Given the description of an element on the screen output the (x, y) to click on. 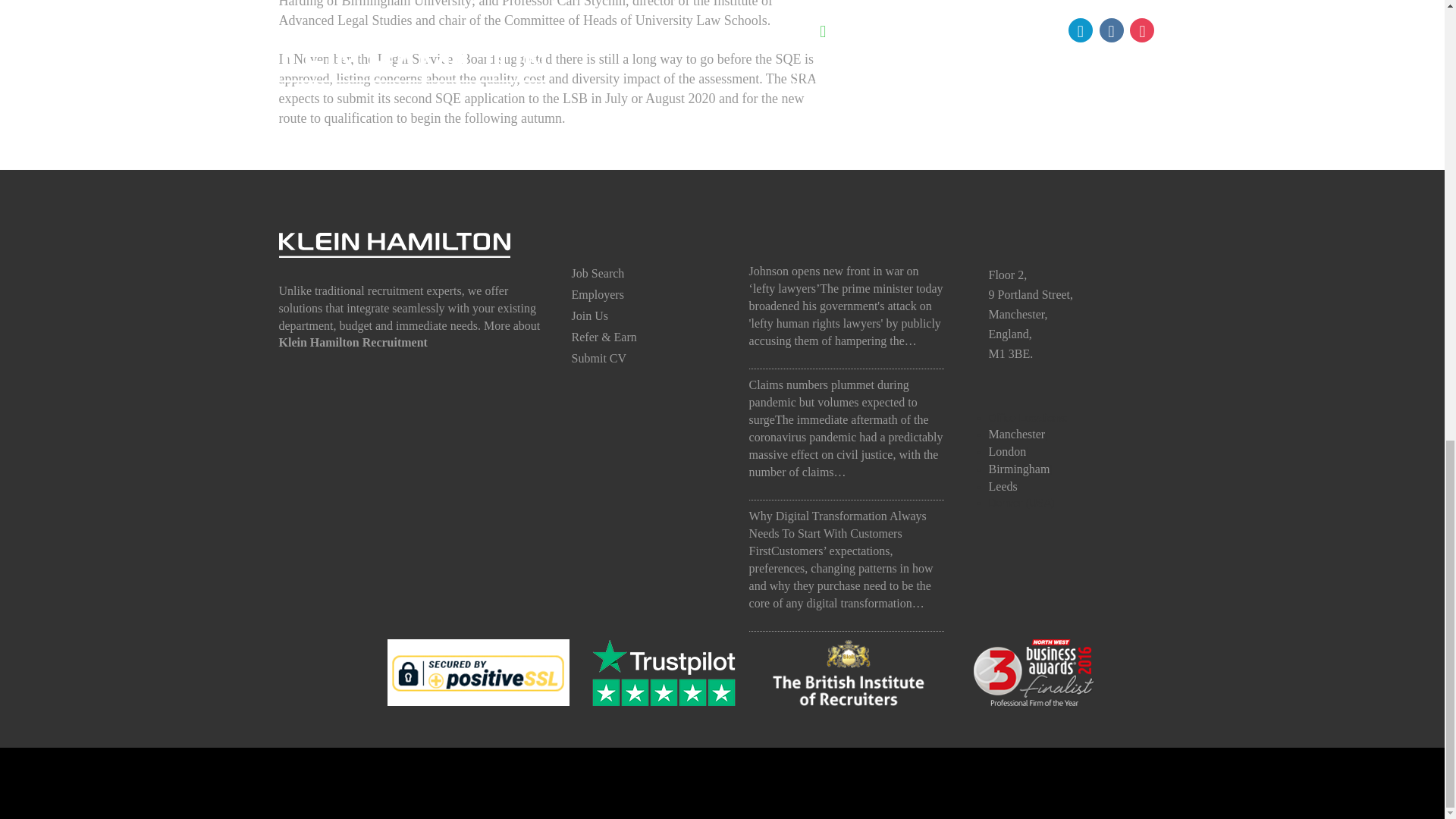
Employers (598, 294)
Submit CV (599, 358)
Klein Hamilton Recruitment (353, 341)
Leeds (1002, 486)
Job Search (598, 273)
Join Us (590, 315)
London (1007, 451)
Manchester (1016, 433)
Birmingham (1018, 468)
